Given the description of an element on the screen output the (x, y) to click on. 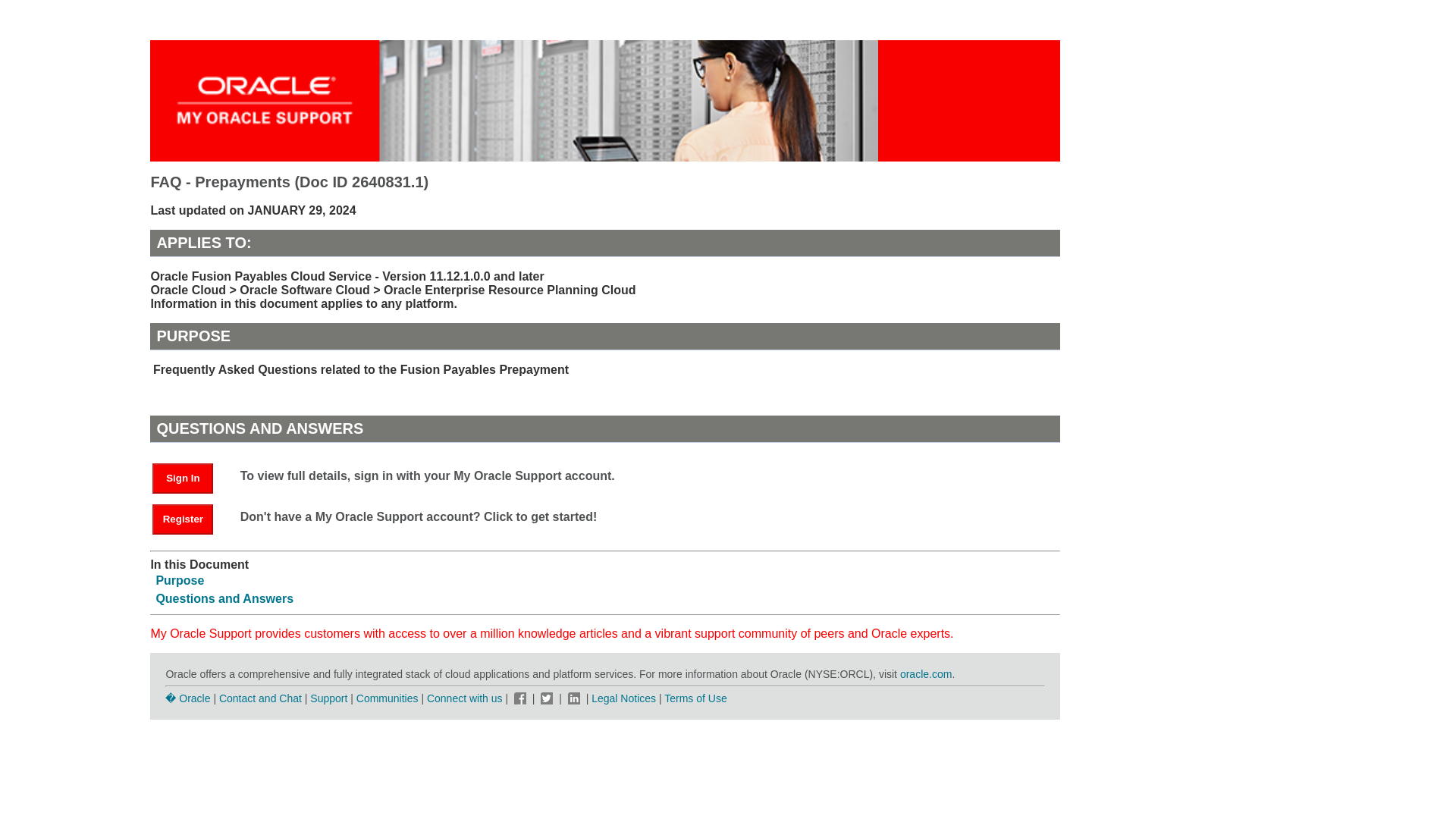
Register (182, 519)
Support (328, 698)
Connect with us (465, 698)
Terms of Use (694, 698)
Sign In (182, 478)
Communities (387, 698)
Legal Notices (623, 698)
Contact and Chat (260, 698)
Register (190, 517)
Sign In (190, 477)
